Given the description of an element on the screen output the (x, y) to click on. 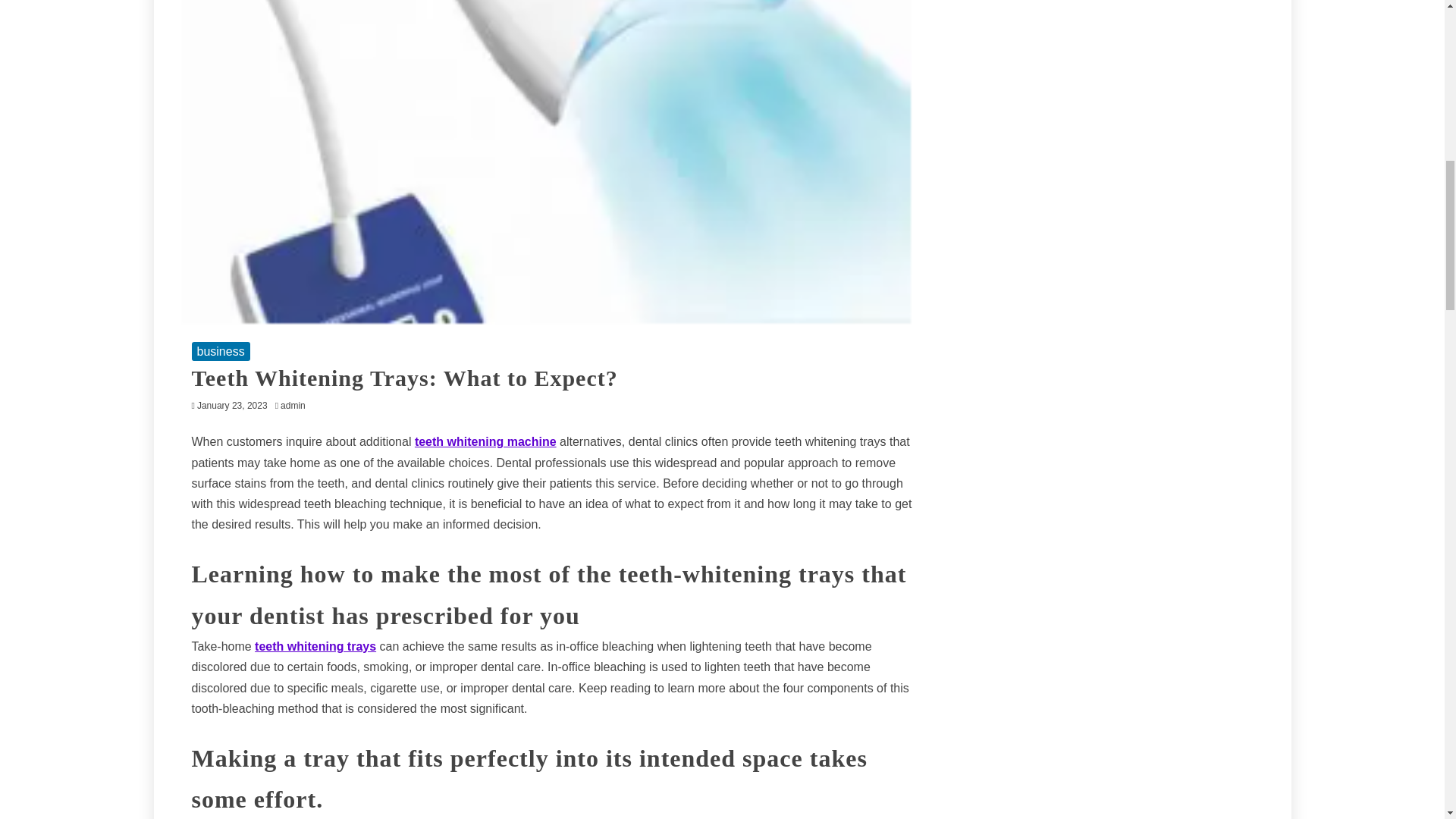
business (219, 351)
admin (297, 405)
January 23, 2023 (231, 405)
